Given the description of an element on the screen output the (x, y) to click on. 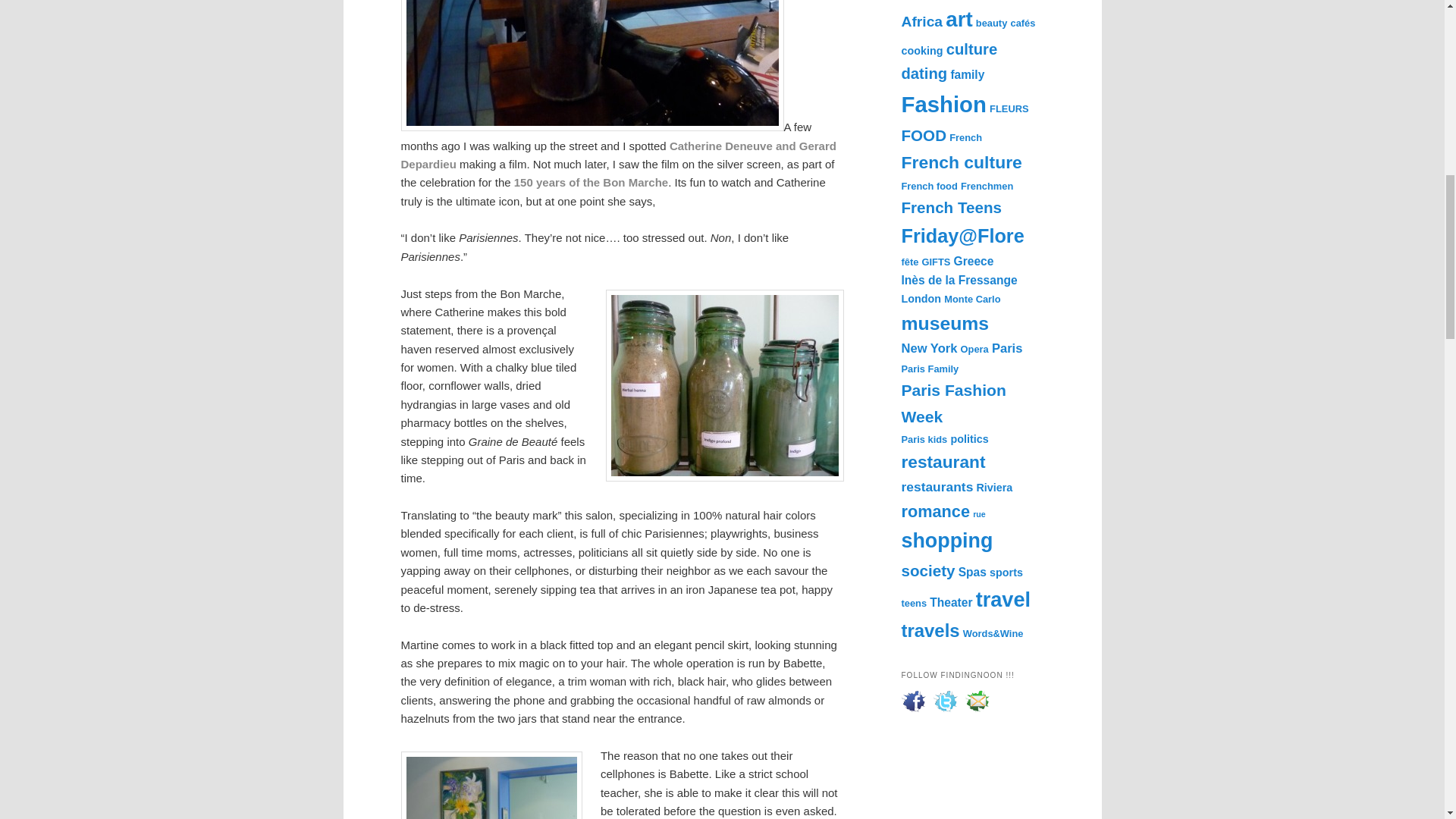
Follow Us on Facebook (912, 701)
150 years of the Bon Marche (590, 182)
P1080990 (591, 65)
Catherine Deneuve and Gerard Depardieu (617, 154)
Happy happy birthday (590, 182)
Natural hair dyes (724, 385)
Follow Us on Twitter (944, 701)
